Given the description of an element on the screen output the (x, y) to click on. 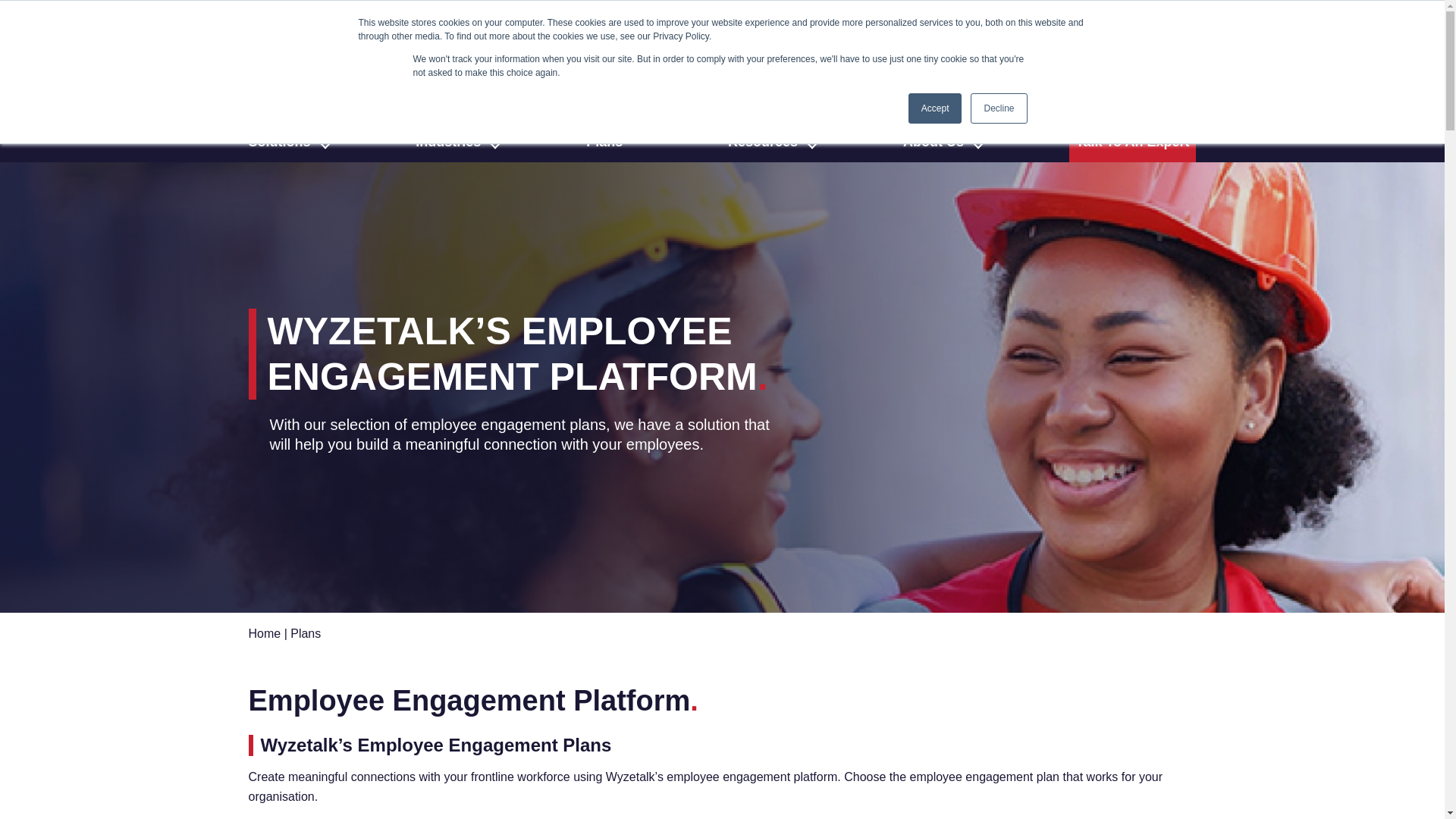
critical crisis comms (838, 25)
About Us (938, 141)
Submit (1178, 86)
Let's Connect (955, 26)
Resources (768, 141)
Decline (998, 108)
Accept (935, 108)
Solutions (284, 141)
Industries (453, 141)
Submit (1178, 86)
Plans (609, 141)
